Given the description of an element on the screen output the (x, y) to click on. 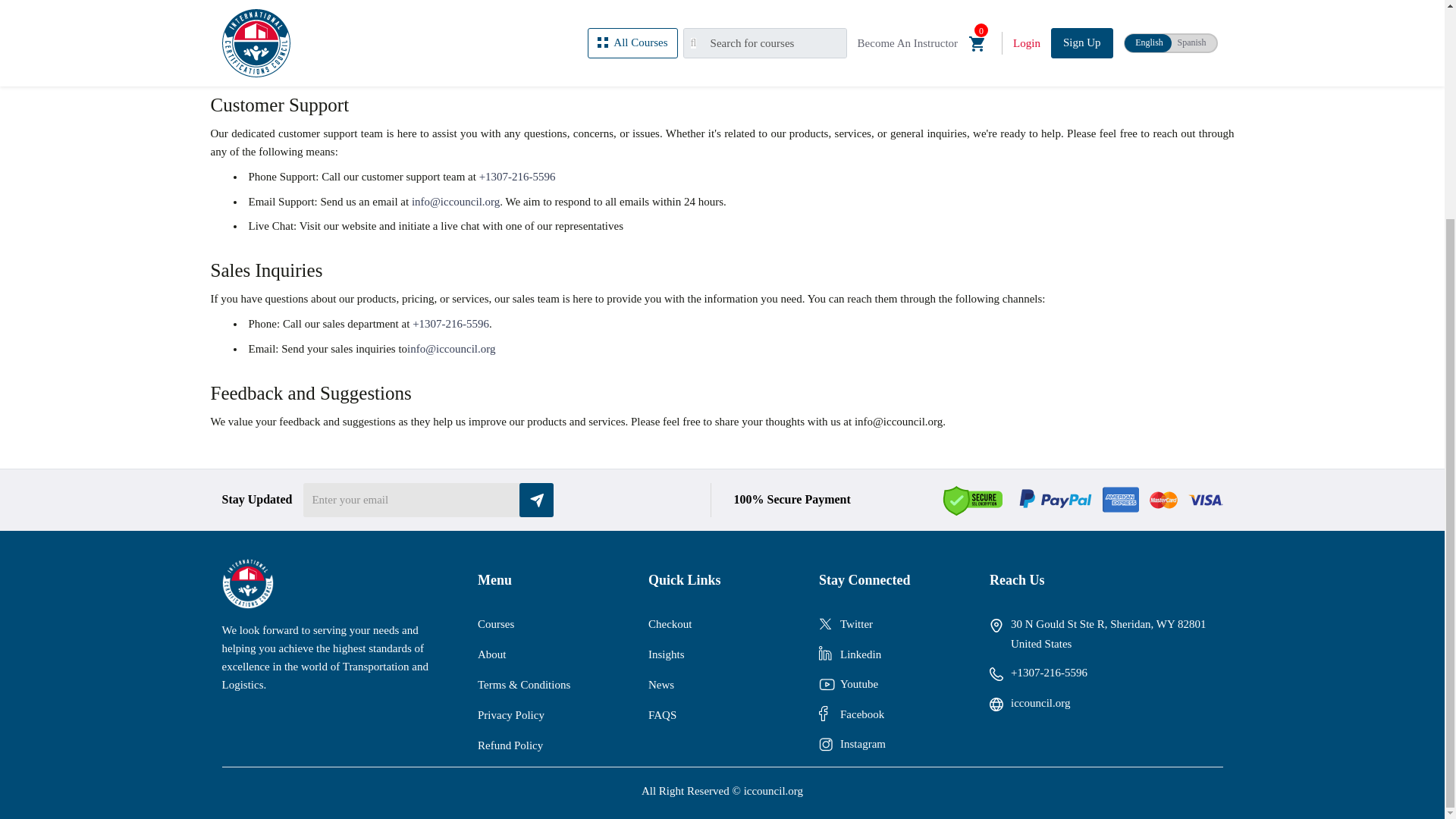
Courses (495, 624)
Twitter (856, 625)
About (491, 654)
Checkout (670, 624)
Visa (1205, 499)
Facebook (861, 715)
iccouncil.org (773, 790)
Linkedin (860, 655)
Paypal (1055, 499)
Checkout (670, 624)
